Given the description of an element on the screen output the (x, y) to click on. 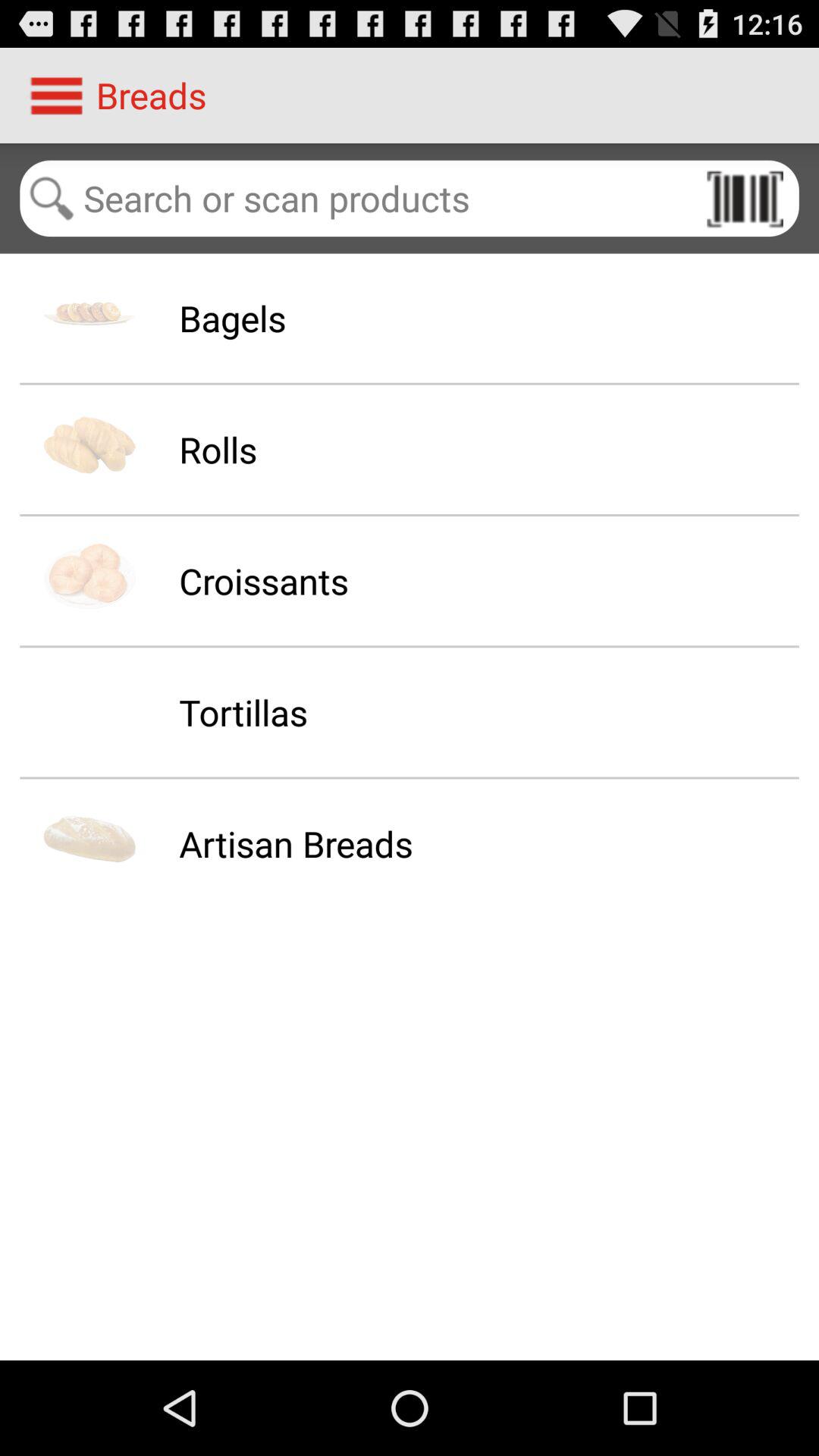
turn on croissants icon (263, 580)
